Given the description of an element on the screen output the (x, y) to click on. 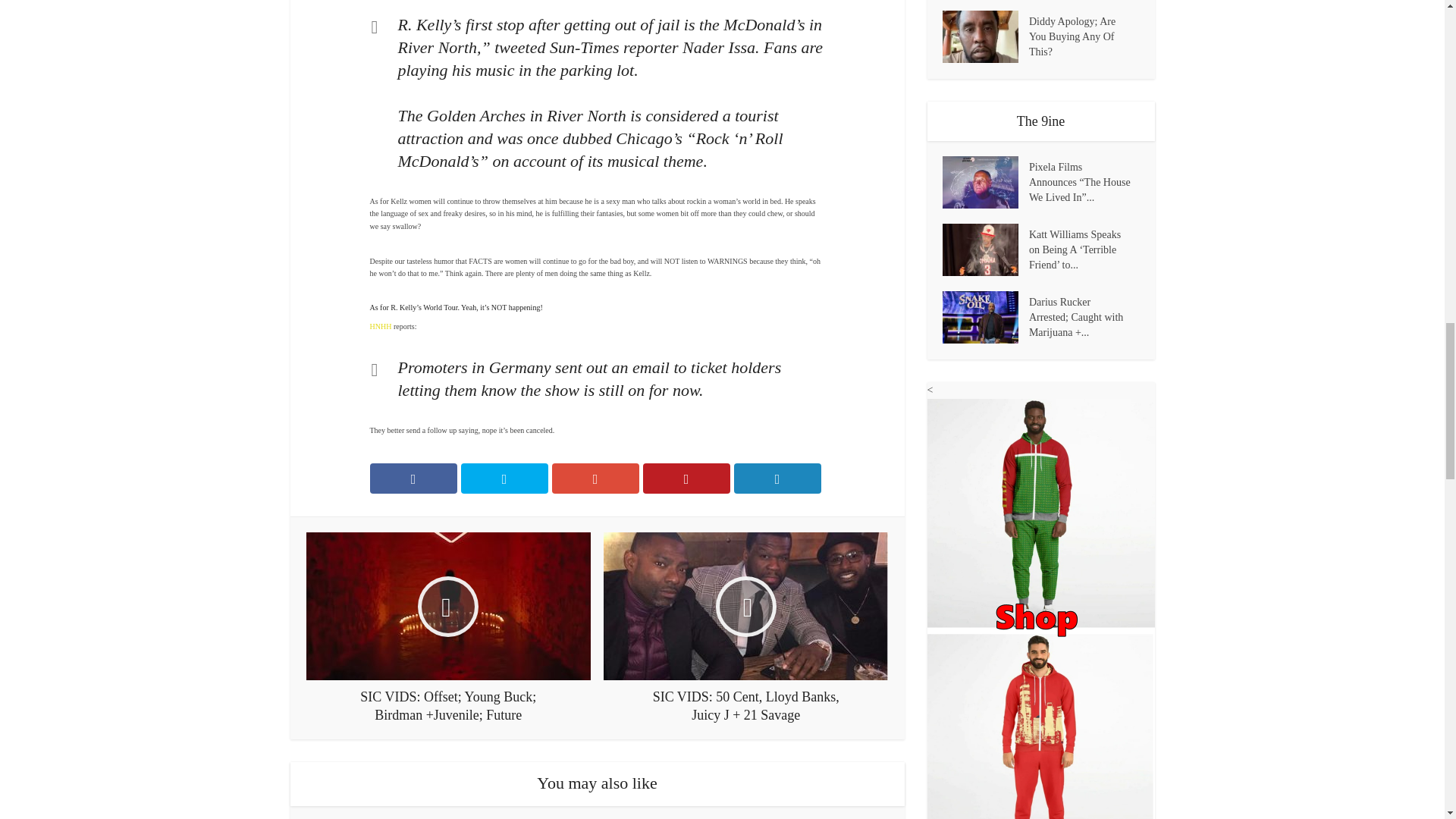
HNHH (380, 326)
